Given the description of an element on the screen output the (x, y) to click on. 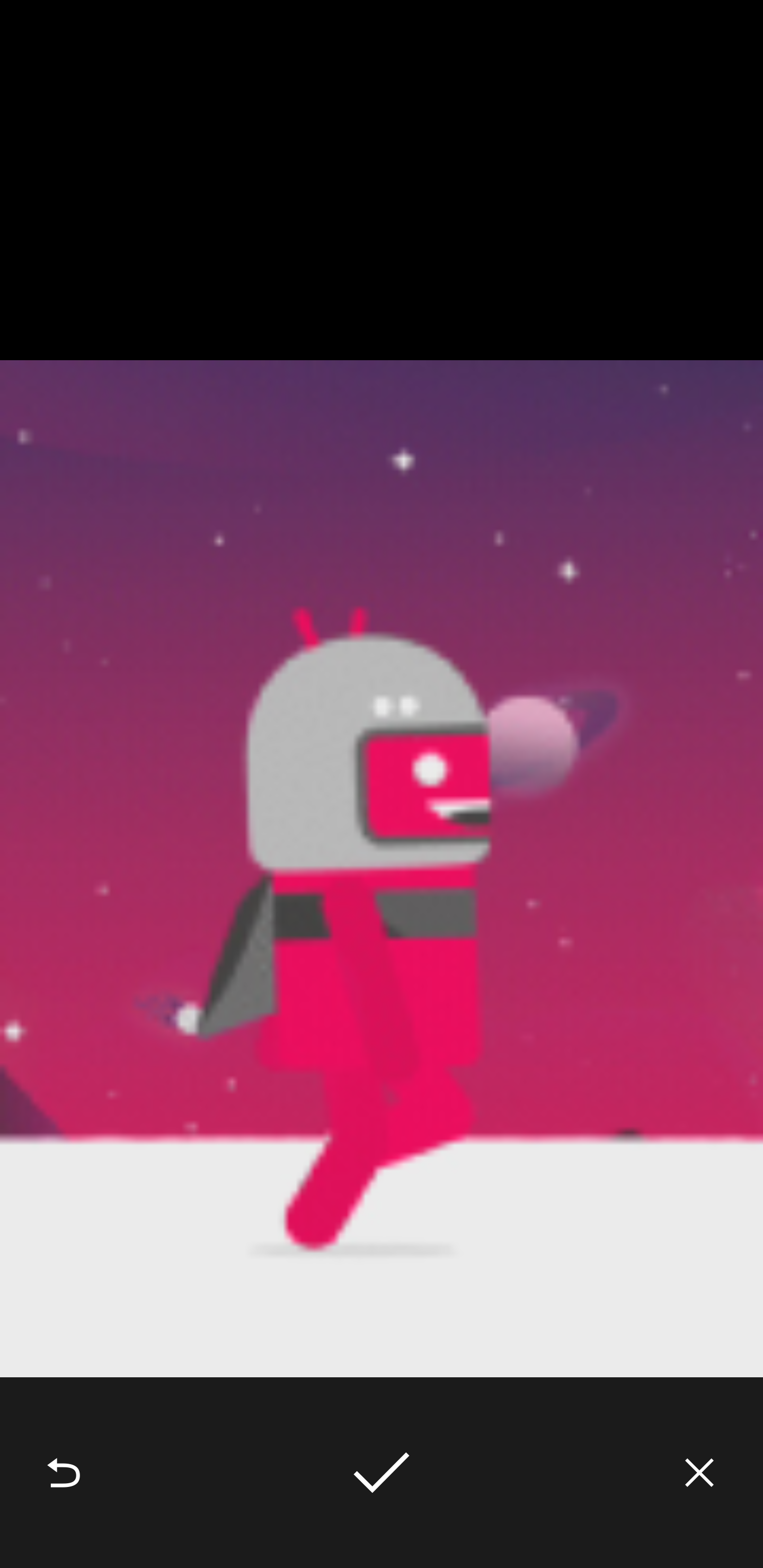
Done (381, 1472)
Retake (63, 1472)
Cancel (699, 1472)
